Given the description of an element on the screen output the (x, y) to click on. 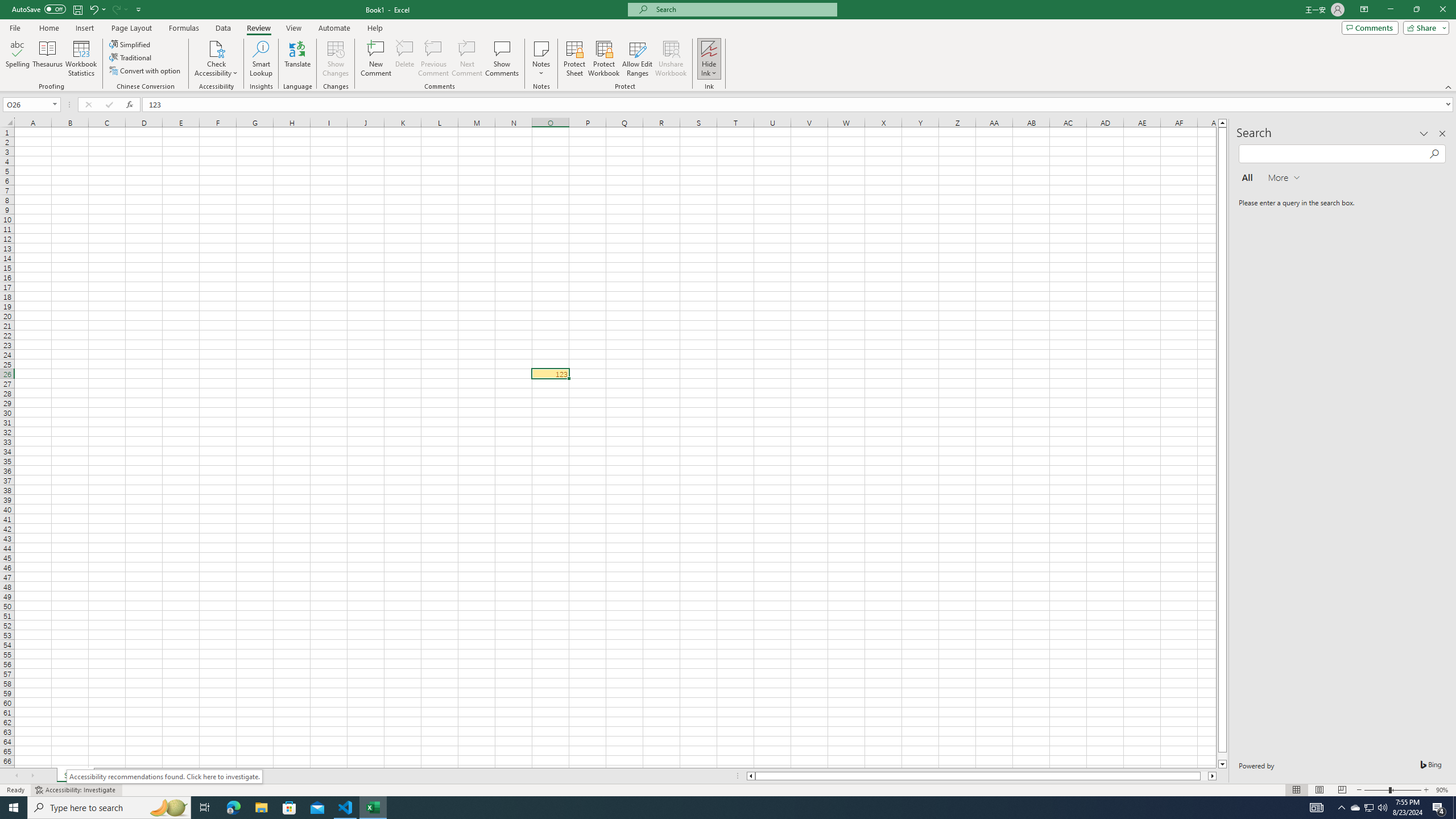
Protect Sheet... (574, 58)
Delete (404, 58)
Show Comments (501, 58)
New Comment (376, 58)
Convert with option (145, 69)
Simplified (130, 44)
